Given the description of an element on the screen output the (x, y) to click on. 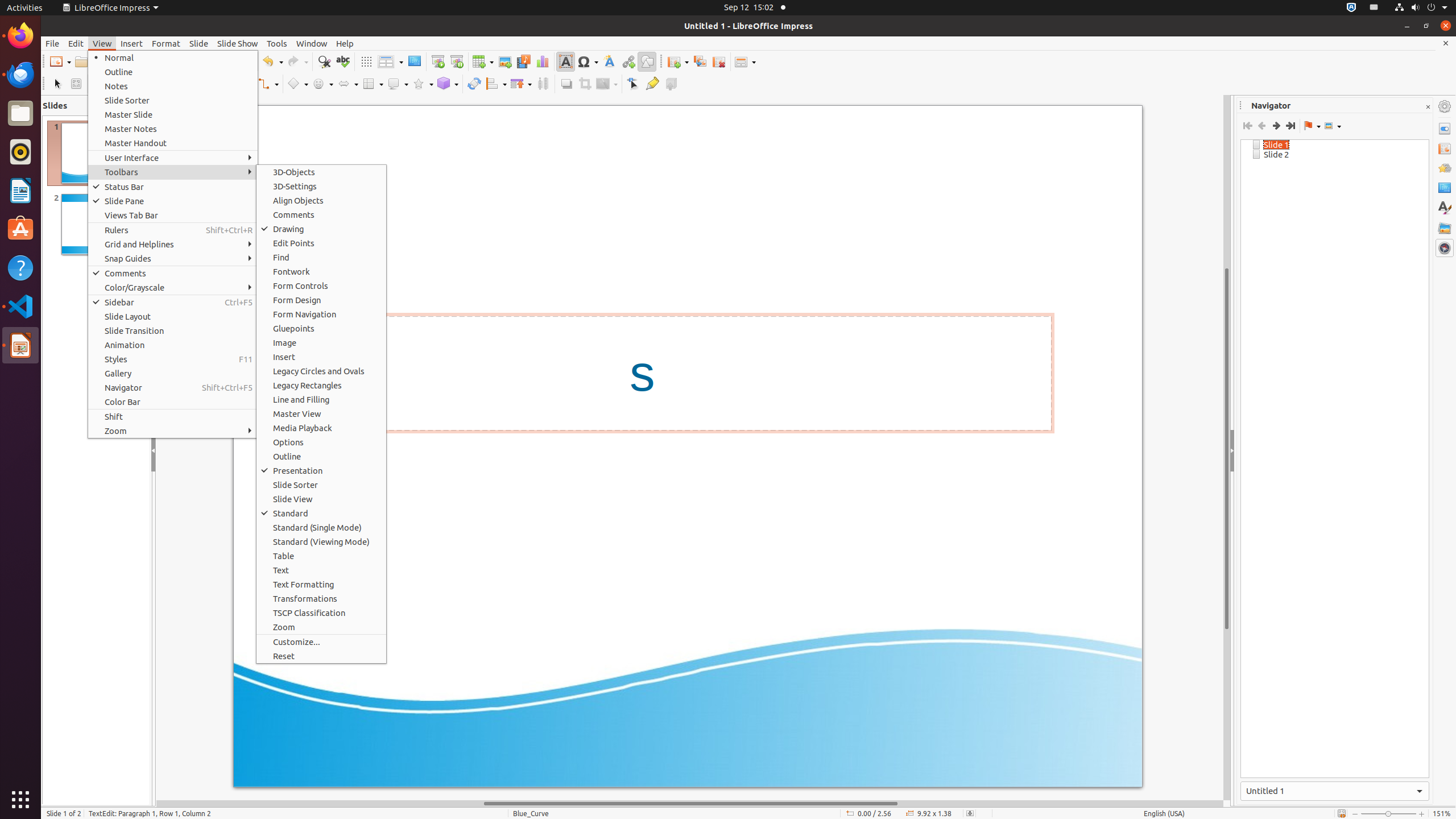
Outline Element type: radio-menu-item (172, 71)
Slide Sorter Element type: radio-menu-item (172, 100)
Slide Sorter Element type: check-menu-item (321, 484)
LibreOffice Impress Element type: menu (109, 7)
TSCP Classification Element type: check-menu-item (321, 612)
